Given the description of an element on the screen output the (x, y) to click on. 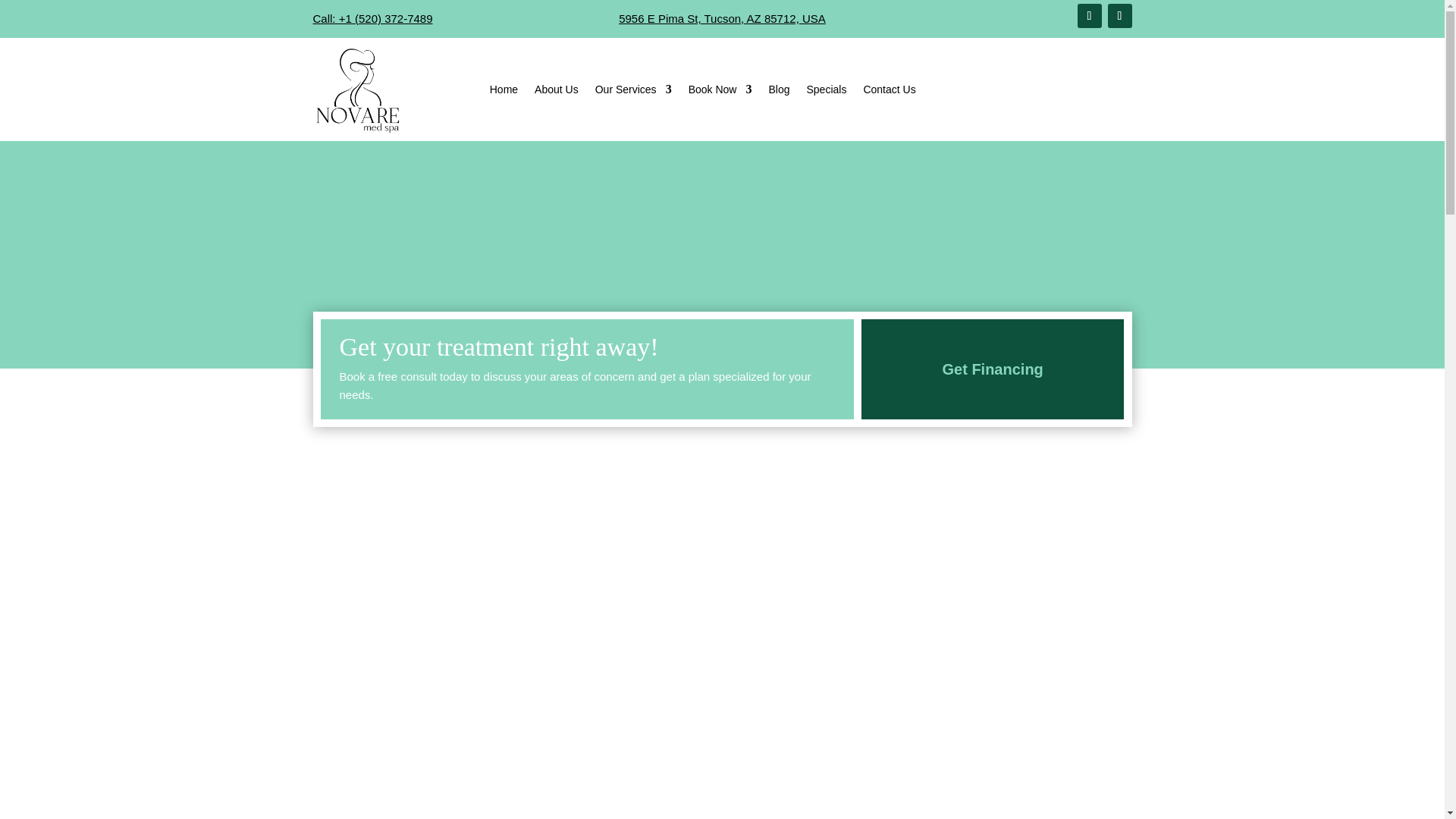
Follow on Instagram (1118, 15)
Follow on Facebook (1088, 15)
5956 E Pima St, Tucson, AZ 85712, USA (721, 18)
Get Financing (992, 369)
